Given the description of an element on the screen output the (x, y) to click on. 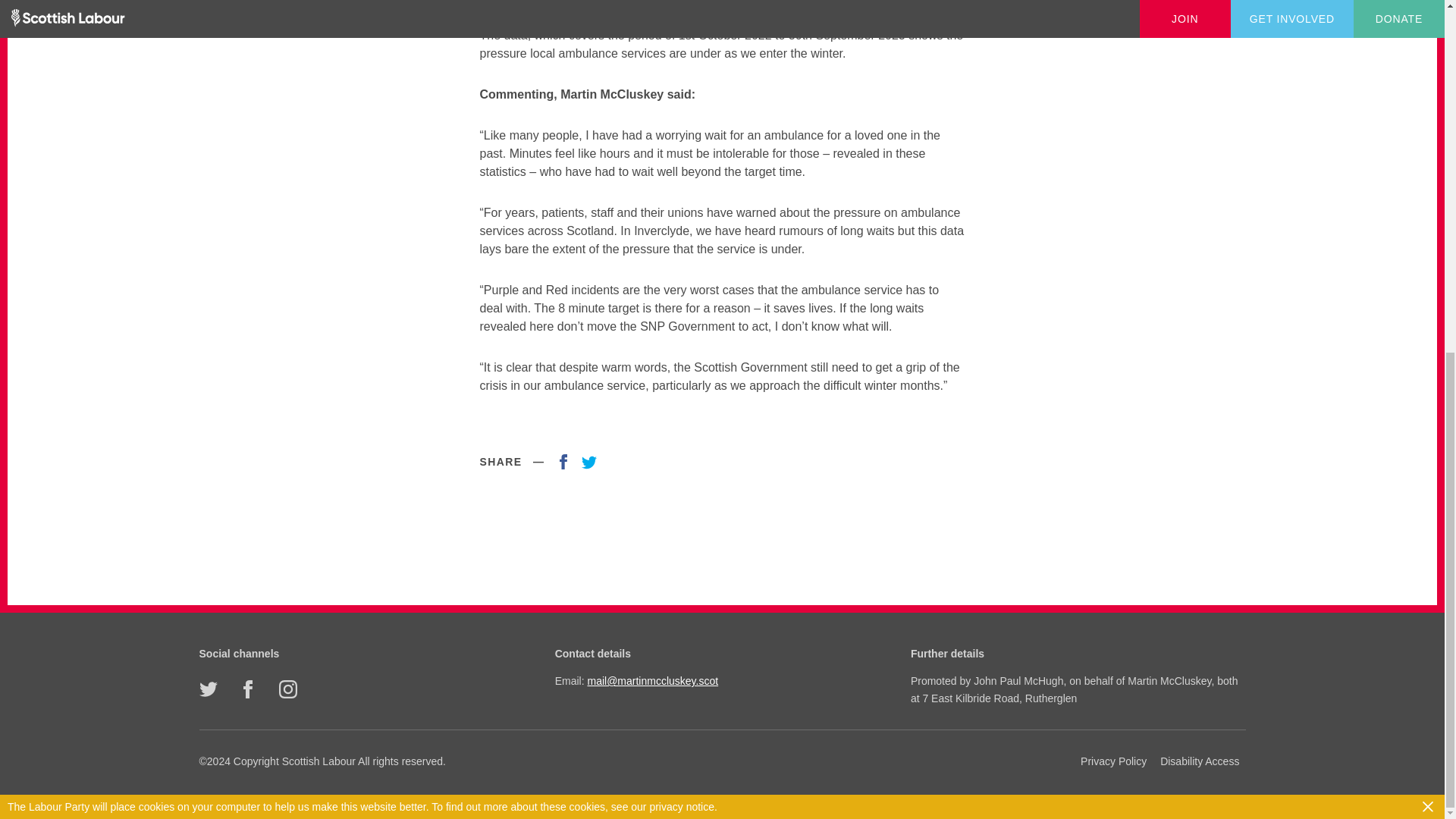
Privacy Policy (1113, 761)
Disability Access (1199, 761)
